Given the description of an element on the screen output the (x, y) to click on. 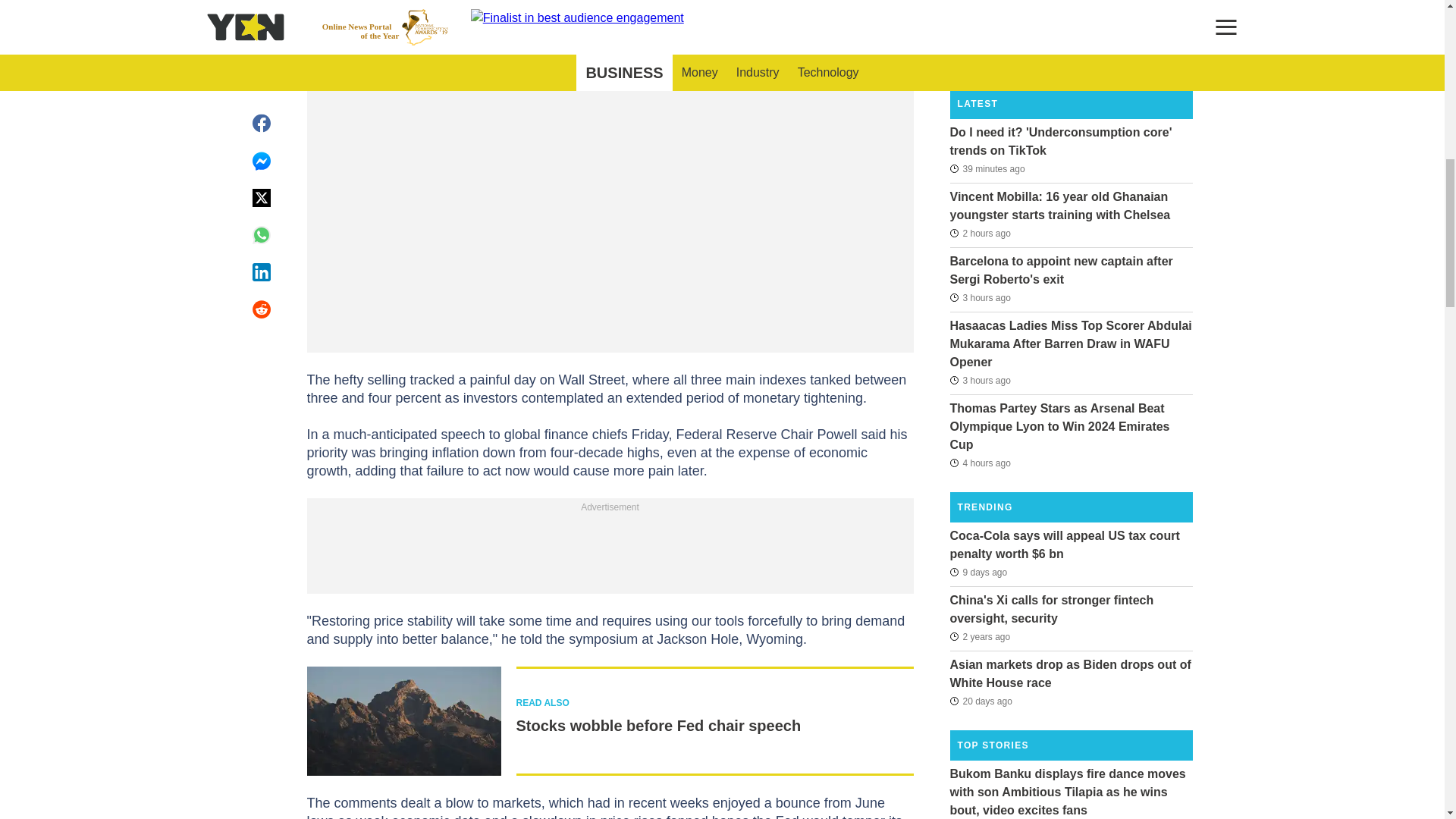
2024-08-12T01:30:11Z (987, 167)
2024-08-02T15:58:04Z (978, 571)
2022-06-23T04:39:04Z (979, 637)
2024-08-11T22:54:00Z (979, 297)
2024-07-22T02:41:03Z (980, 700)
2024-08-11T21:59:40Z (979, 462)
2024-08-11T22:51:39Z (979, 380)
2024-08-11T23:50:29Z (979, 233)
